Given the description of an element on the screen output the (x, y) to click on. 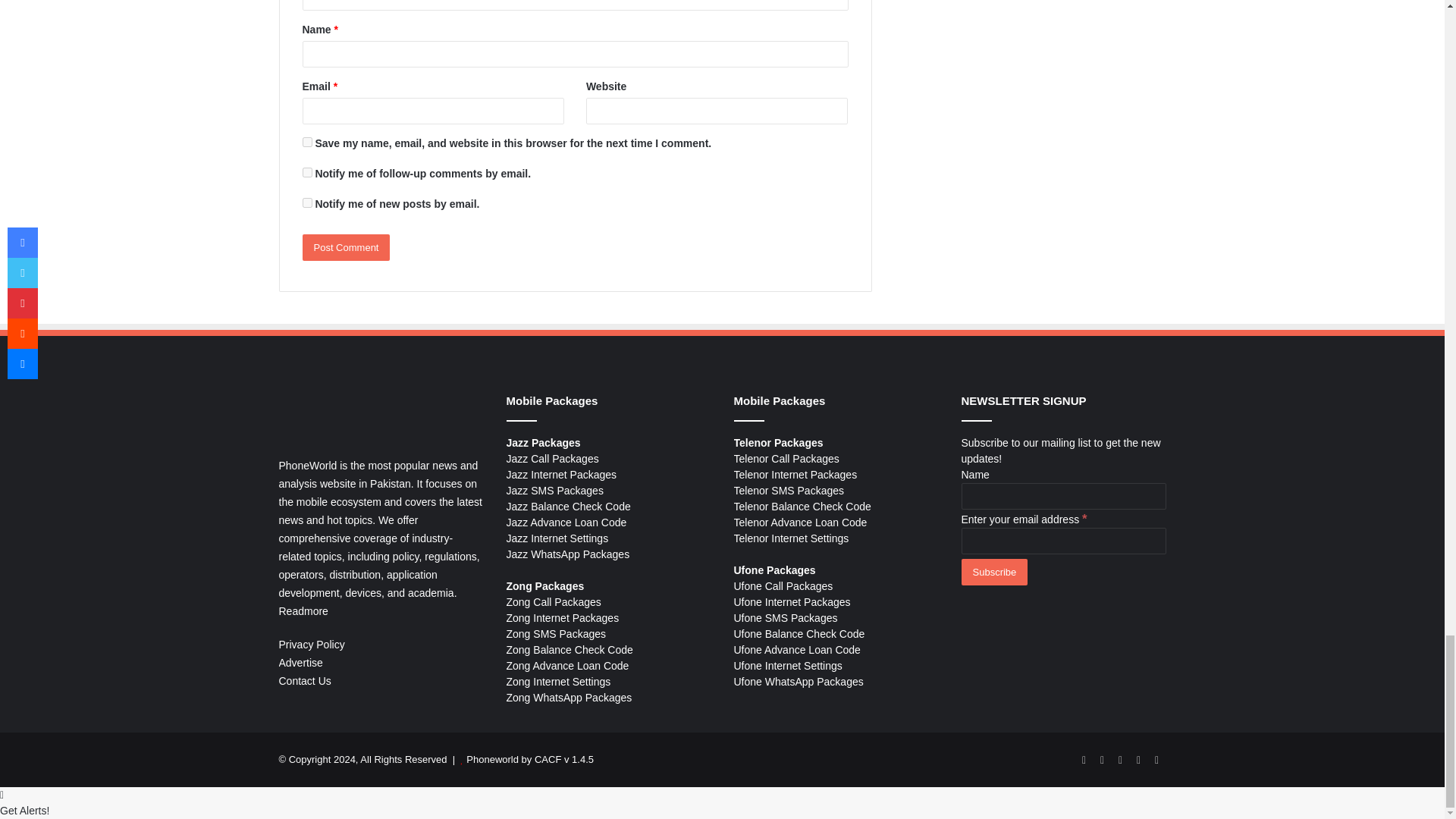
yes (306, 142)
Post Comment (345, 247)
subscribe (306, 172)
subscribe (306, 203)
Subscribe (993, 571)
